Given the description of an element on the screen output the (x, y) to click on. 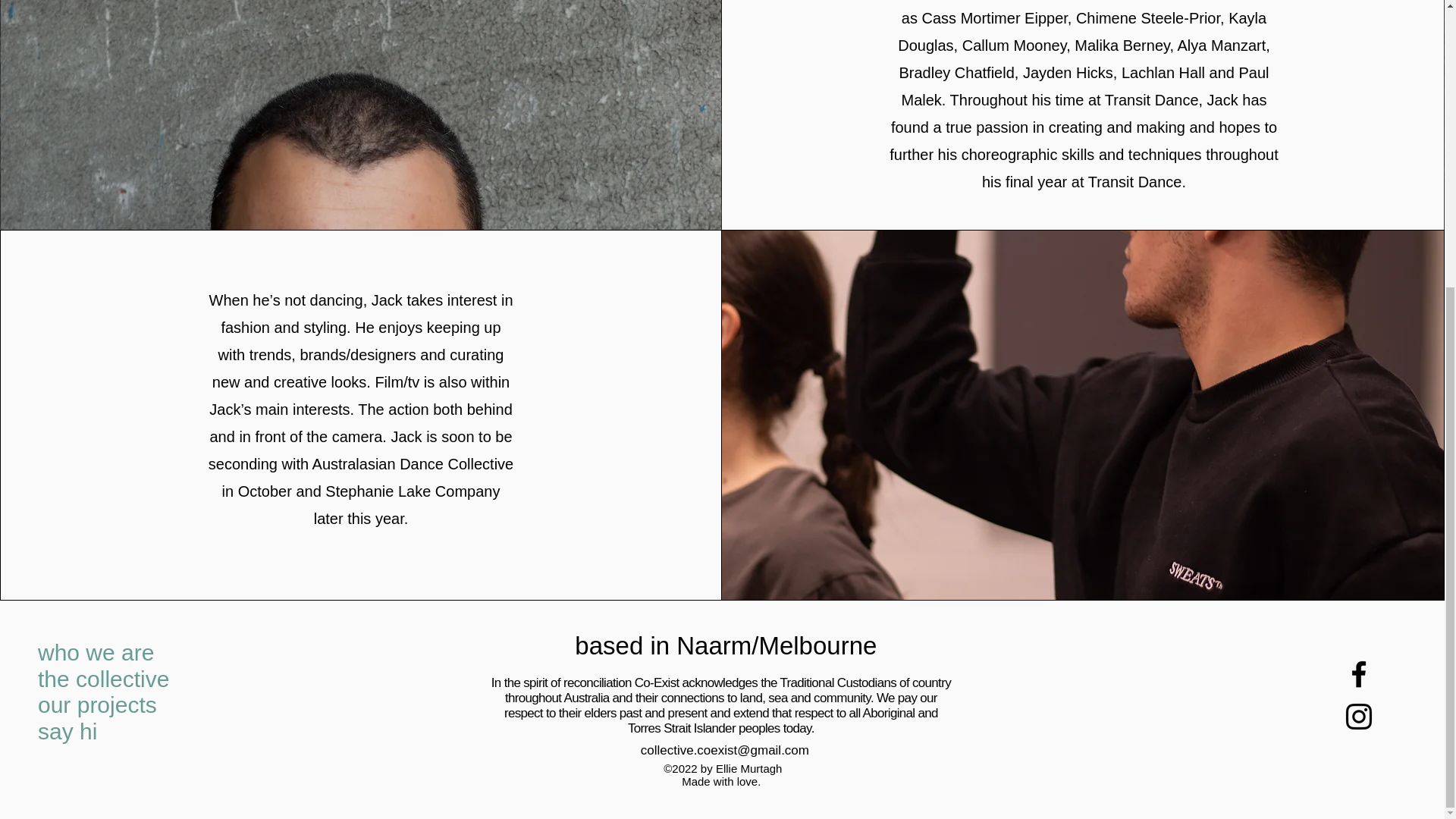
say hi (67, 731)
our projects (97, 704)
who we are (95, 652)
the collective (102, 678)
